Given the description of an element on the screen output the (x, y) to click on. 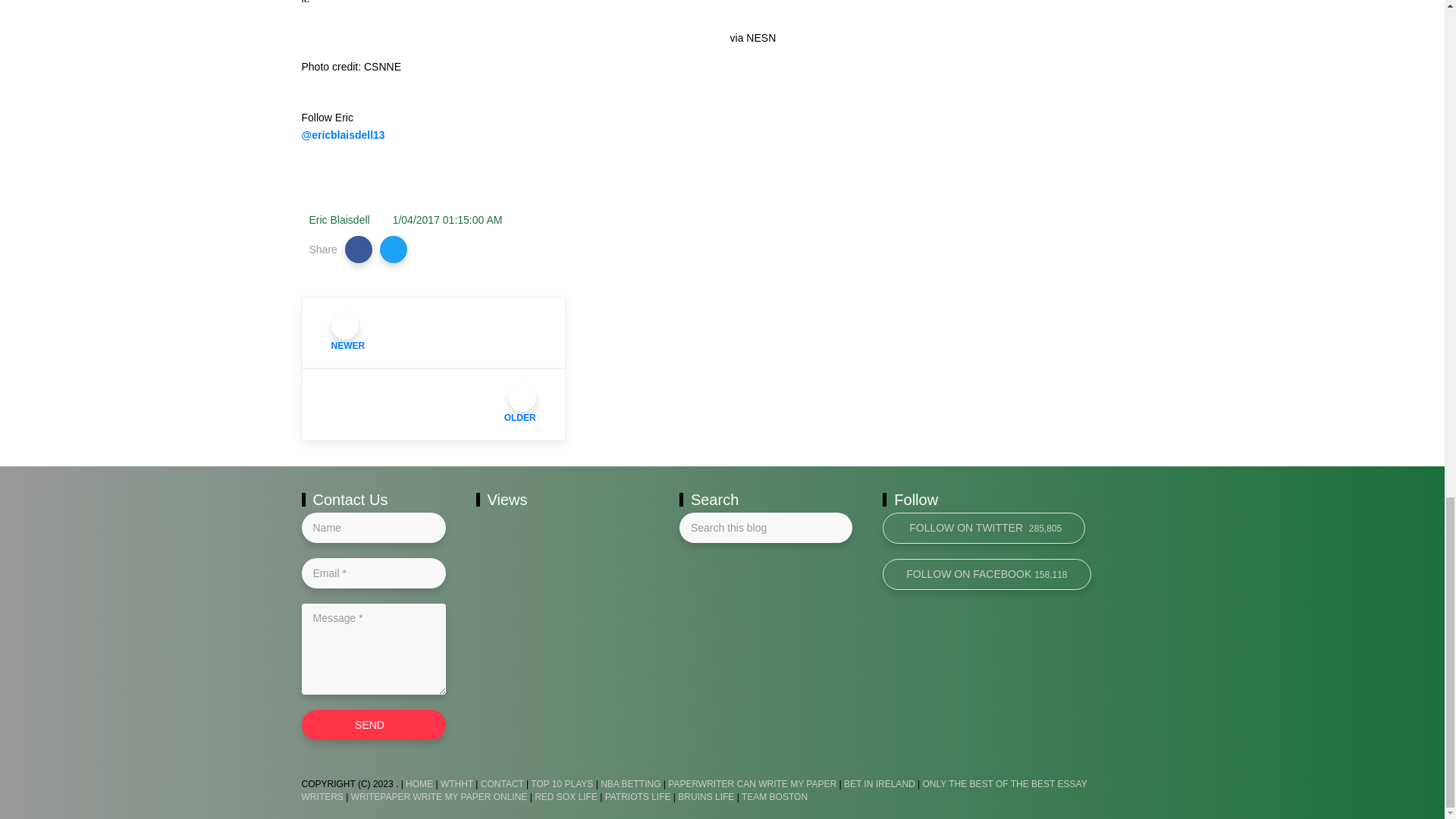
Share to Facebook (358, 248)
OLDER (433, 404)
NEWER (433, 332)
permanent link (447, 219)
Share to Twitter (393, 248)
Eric Blaisdell (338, 219)
author profile (338, 219)
